Given the description of an element on the screen output the (x, y) to click on. 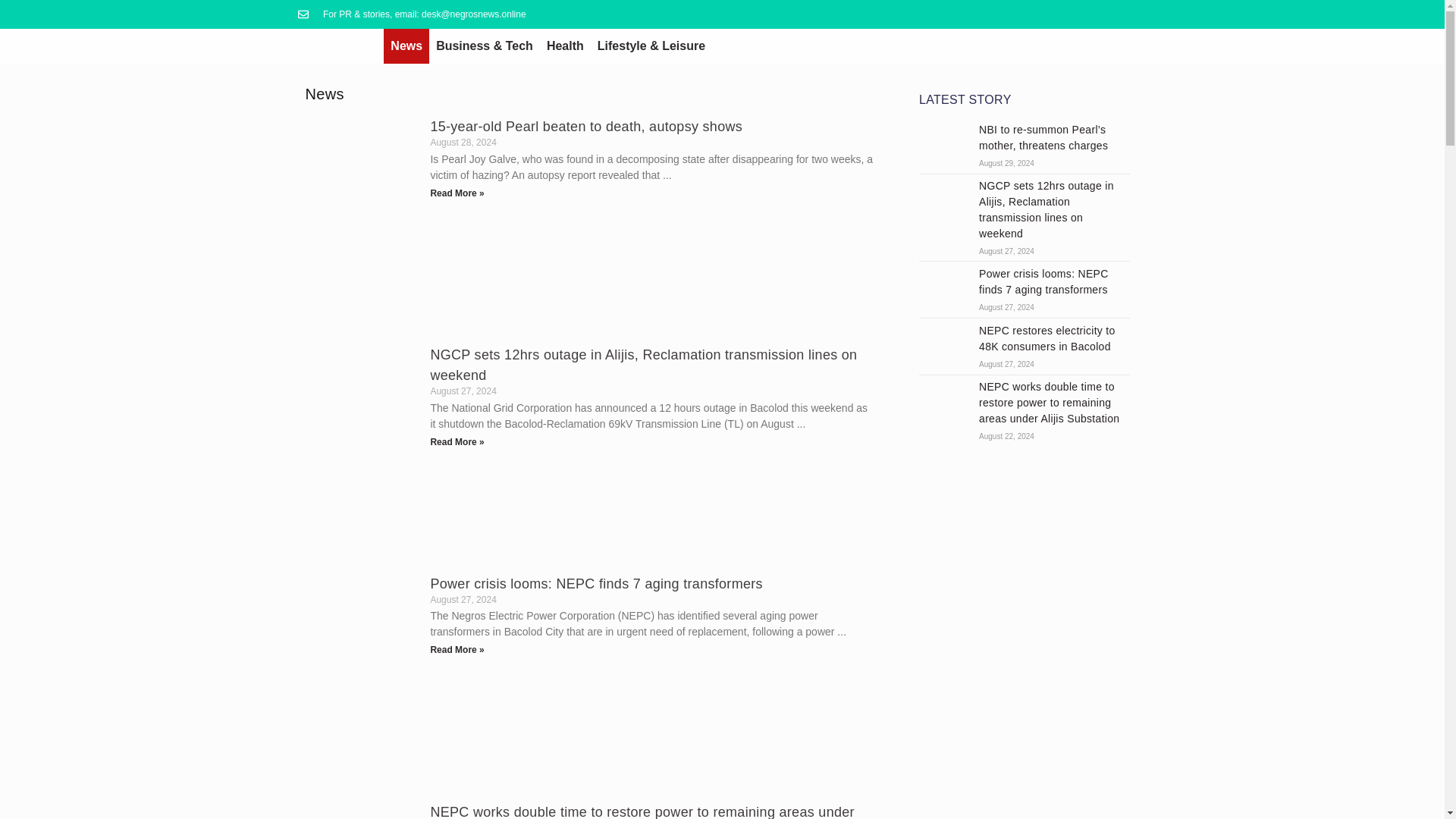
Power crisis looms: NEPC finds 7 aging transformers (943, 287)
Health (565, 45)
Power crisis looms: NEPC finds 7 aging transformers (1043, 281)
News (406, 45)
NEPC restores electricity to 48K consumers in Bacolod (943, 345)
Power crisis looms: NEPC finds 7 aging transformers (595, 583)
